Given the description of an element on the screen output the (x, y) to click on. 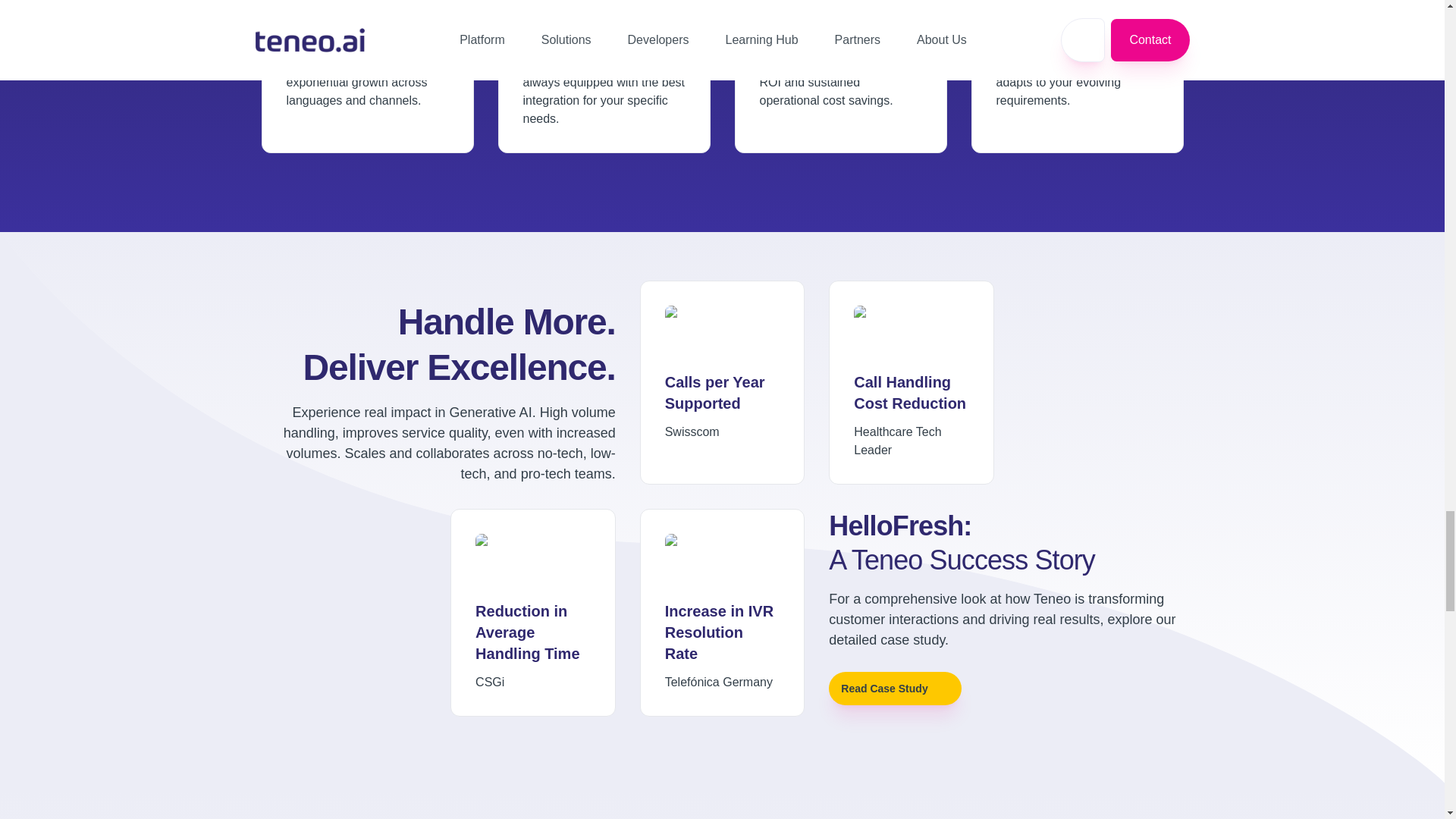
Read Case Study (894, 688)
